Given the description of an element on the screen output the (x, y) to click on. 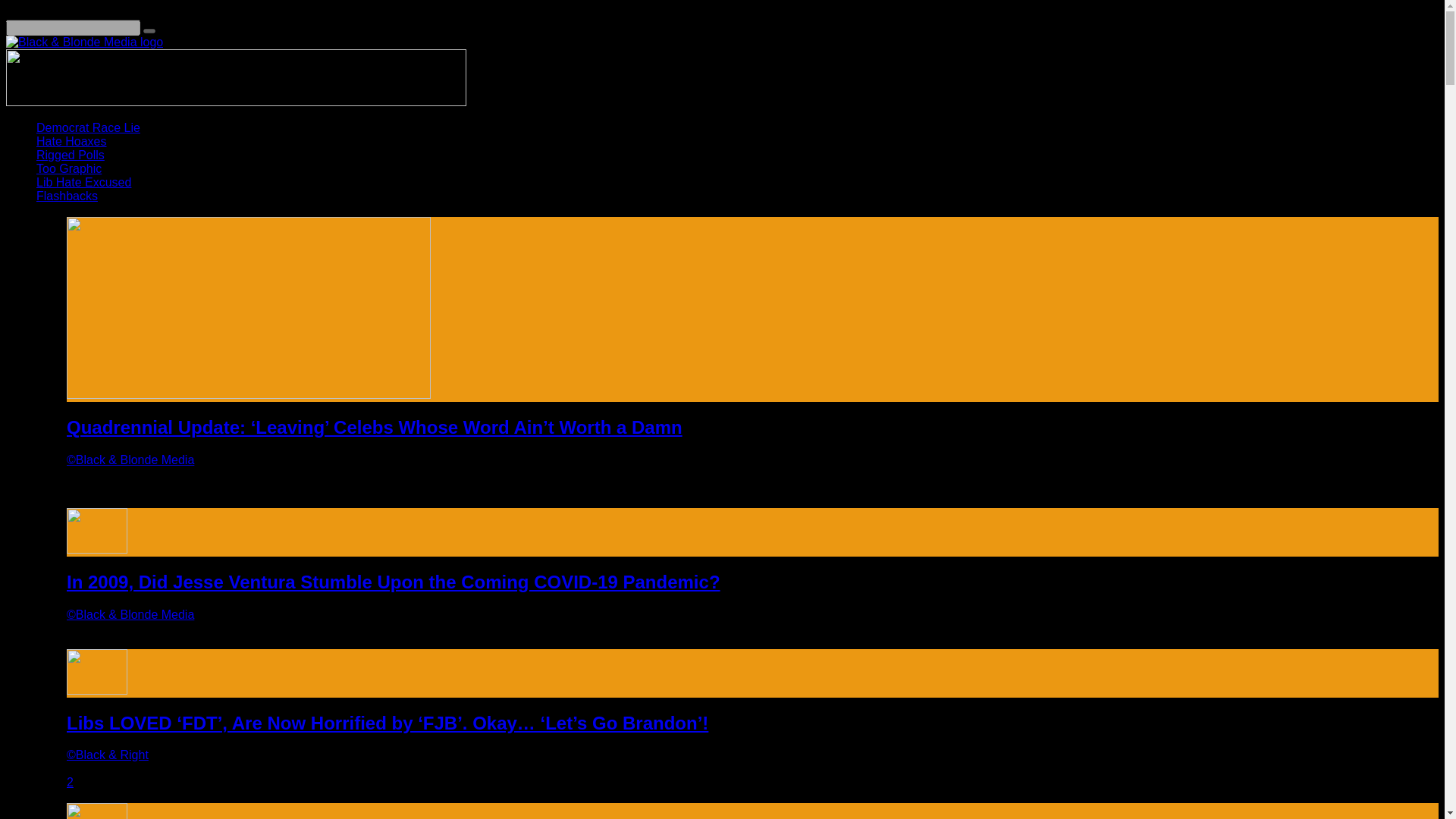
Too Graphic (68, 168)
Lib Hate Excused (83, 182)
Democrat Race Lie (87, 127)
Rigged Polls (70, 154)
Hate Hoaxes (71, 141)
2 (70, 781)
Flashbacks (66, 195)
